Given the description of an element on the screen output the (x, y) to click on. 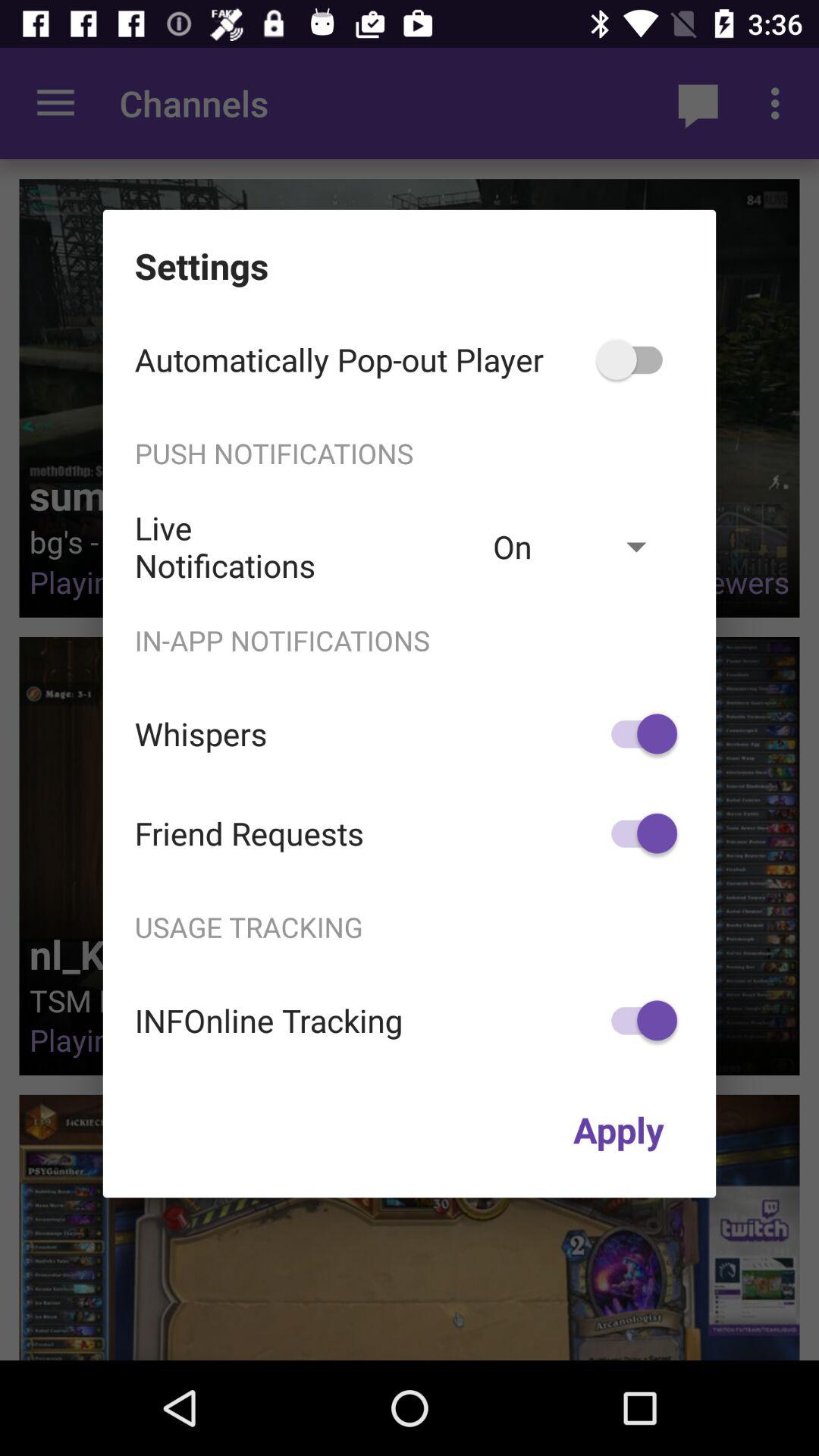
scroll to apply item (618, 1129)
